Given the description of an element on the screen output the (x, y) to click on. 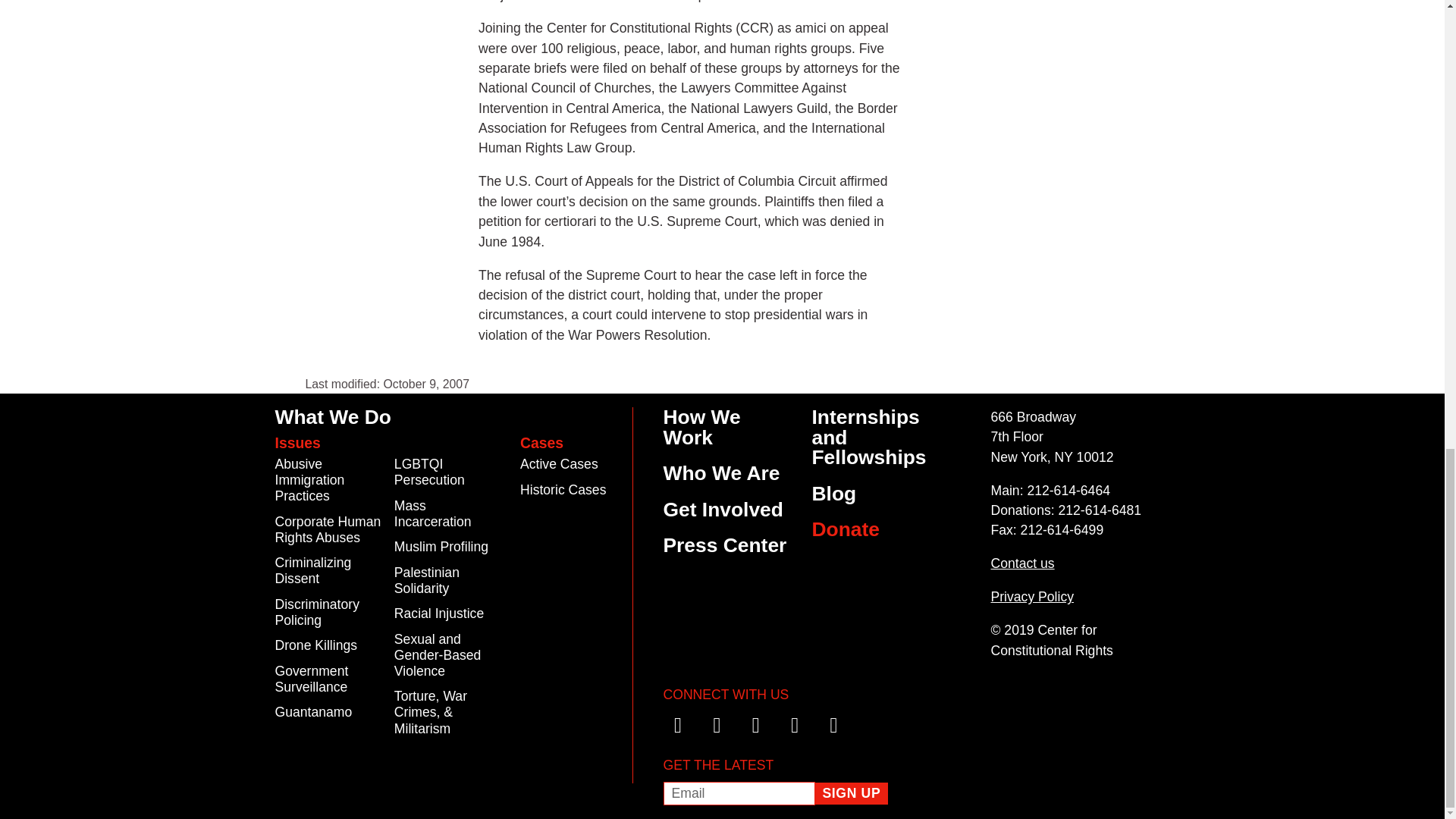
Sign Up (850, 793)
